Given the description of an element on the screen output the (x, y) to click on. 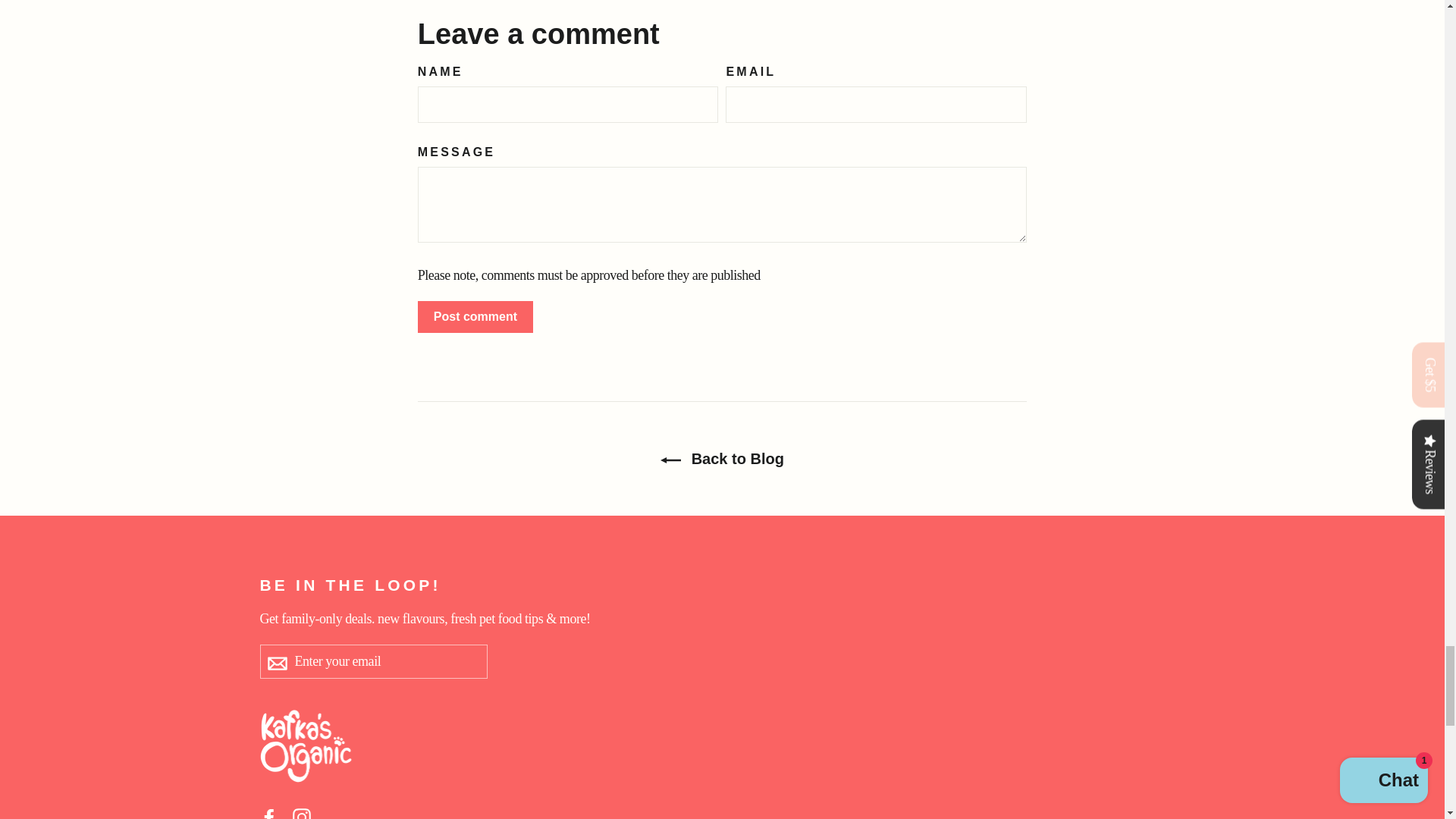
Post comment (474, 317)
Kafka's Organic on Instagram (301, 811)
Kafka's Organic on Facebook (268, 811)
